Given the description of an element on the screen output the (x, y) to click on. 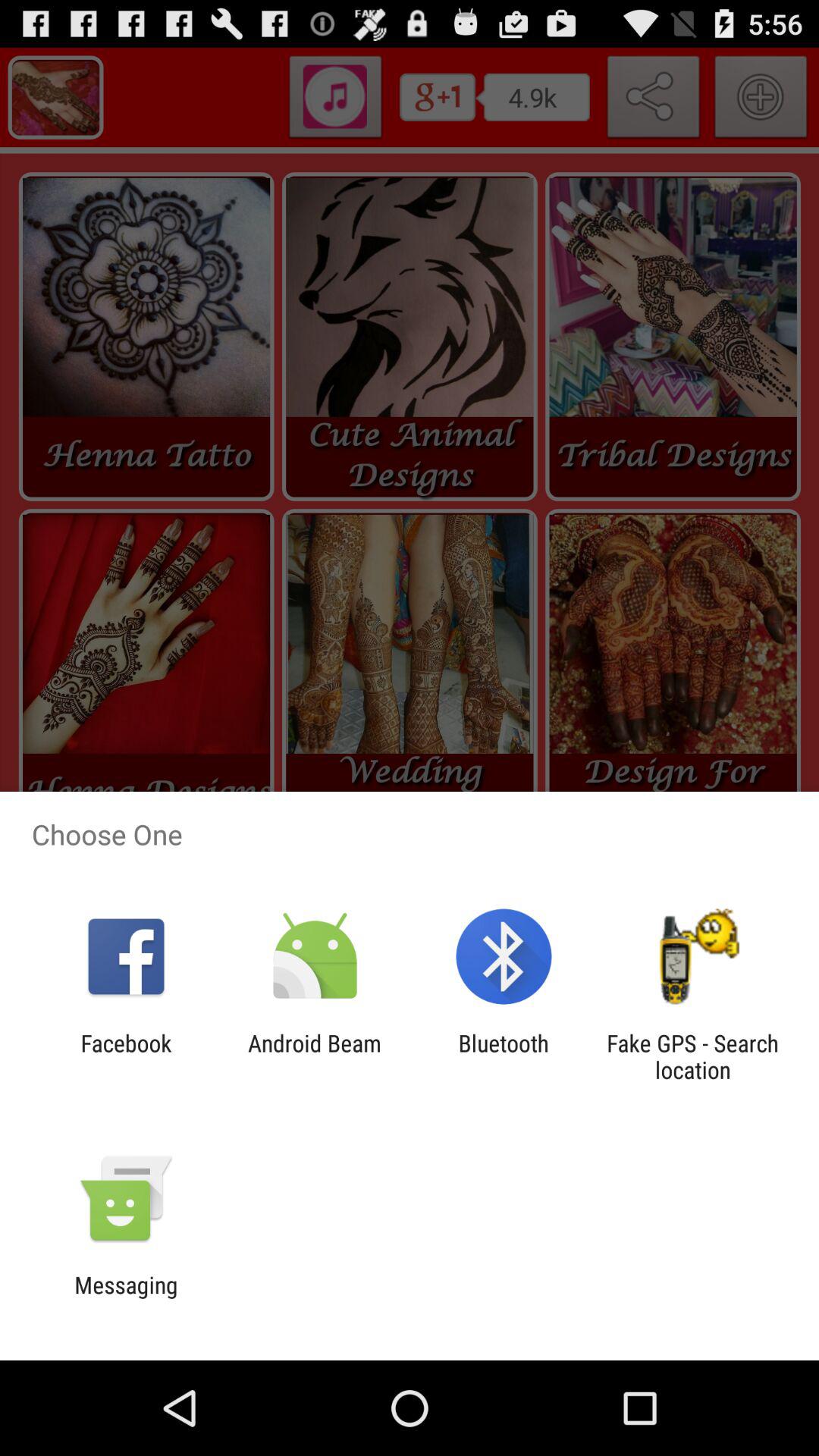
select icon next to the android beam (503, 1056)
